Given the description of an element on the screen output the (x, y) to click on. 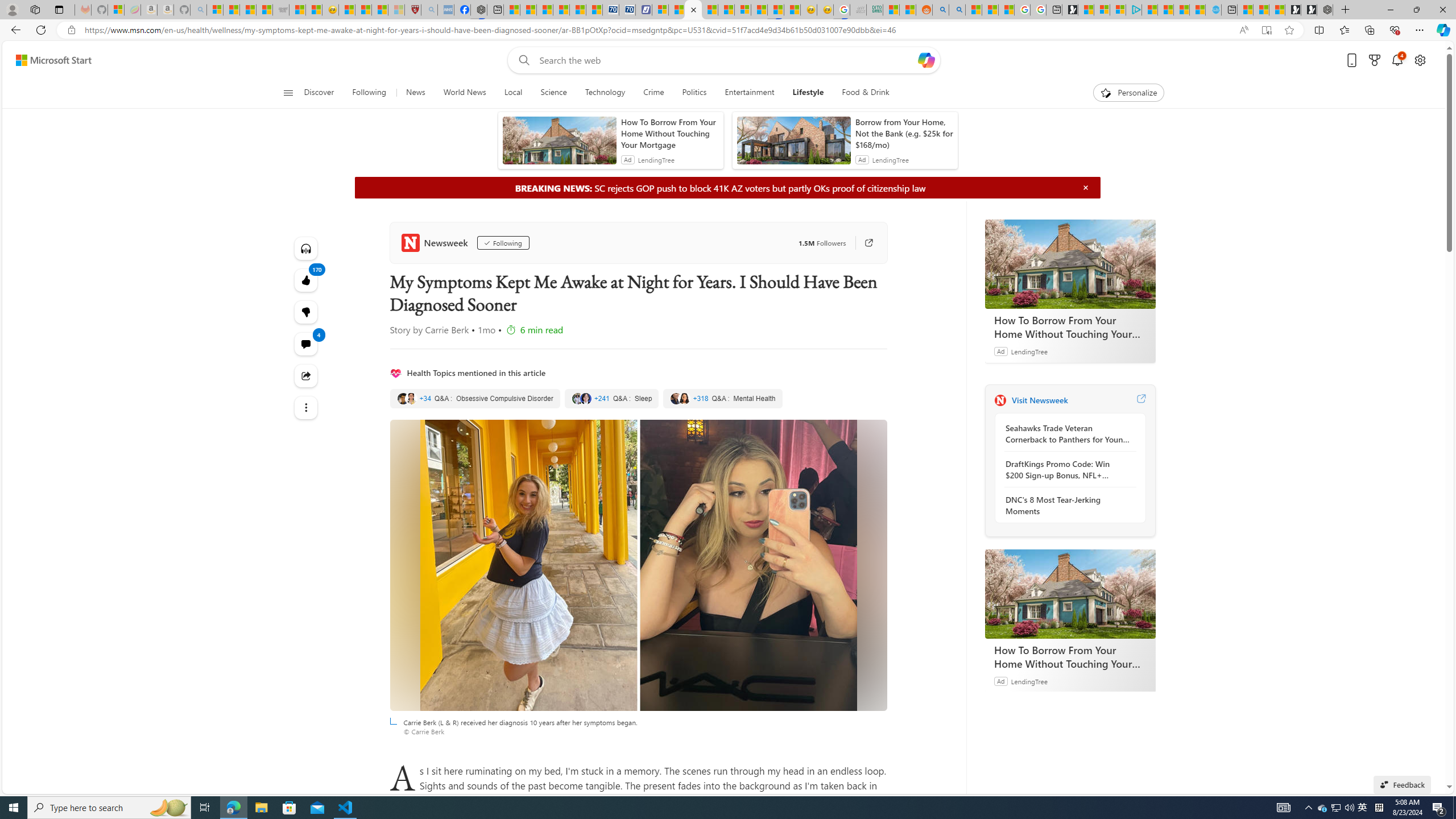
14 Common Myths Debunked By Scientific Facts (709, 9)
Skip to content (49, 59)
LendingTree (1029, 681)
MSNBC - MSN (890, 9)
Local (512, 92)
Enter your search term (726, 59)
Stocks - MSN (264, 9)
Local (513, 92)
